Given the description of an element on the screen output the (x, y) to click on. 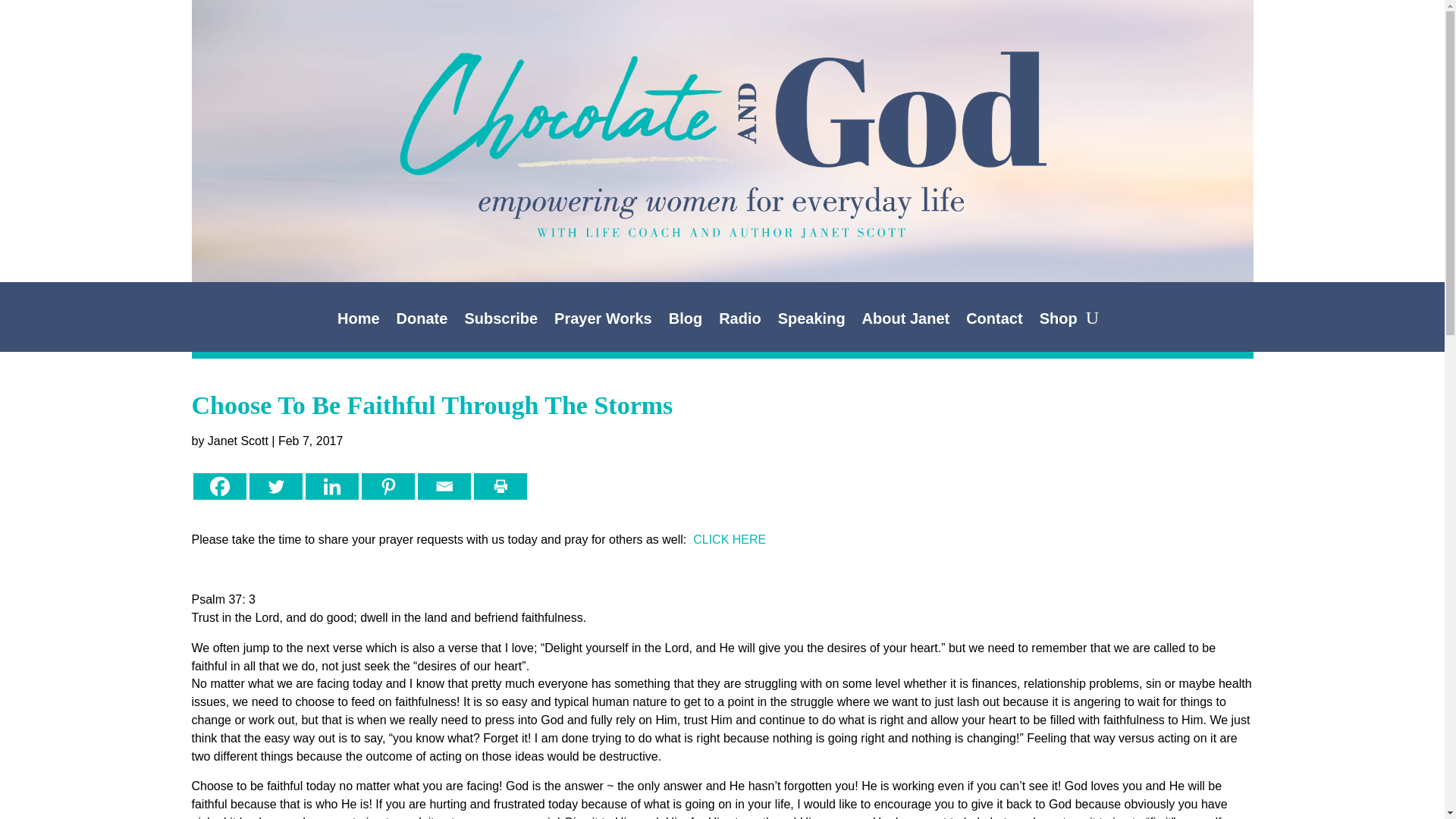
Speaking (811, 321)
Email (443, 486)
Home (358, 321)
Twitter (274, 486)
About Janet (905, 321)
Subscribe (500, 321)
CLICK HERE (729, 539)
tagline (722, 212)
Contact (994, 321)
Facebook (219, 486)
Print (499, 486)
Radio (740, 321)
Donate (422, 321)
Prayer Works (603, 321)
Janet Scott (237, 440)
